Given the description of an element on the screen output the (x, y) to click on. 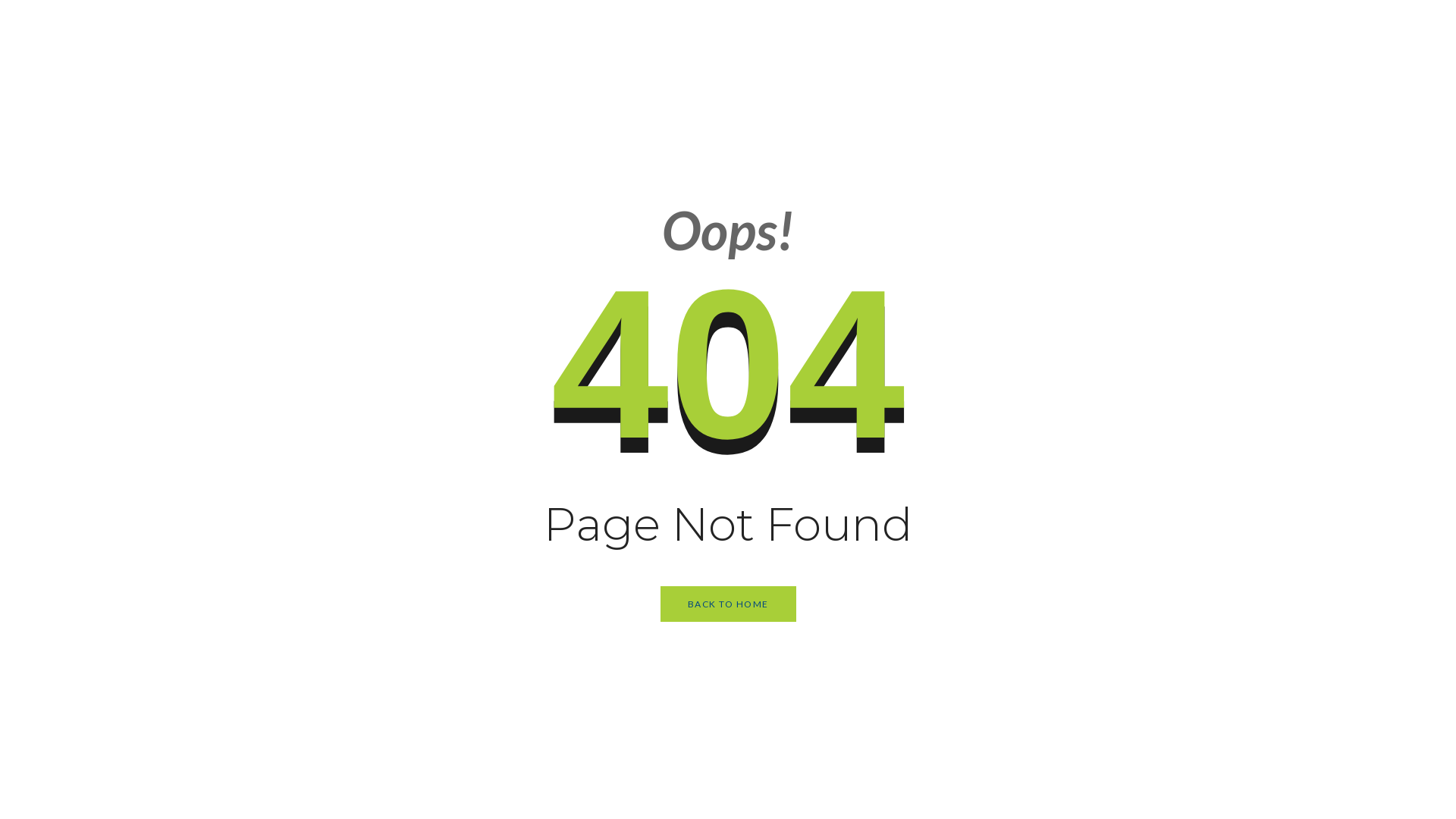
BACK TO HOME Element type: text (727, 603)
